Given the description of an element on the screen output the (x, y) to click on. 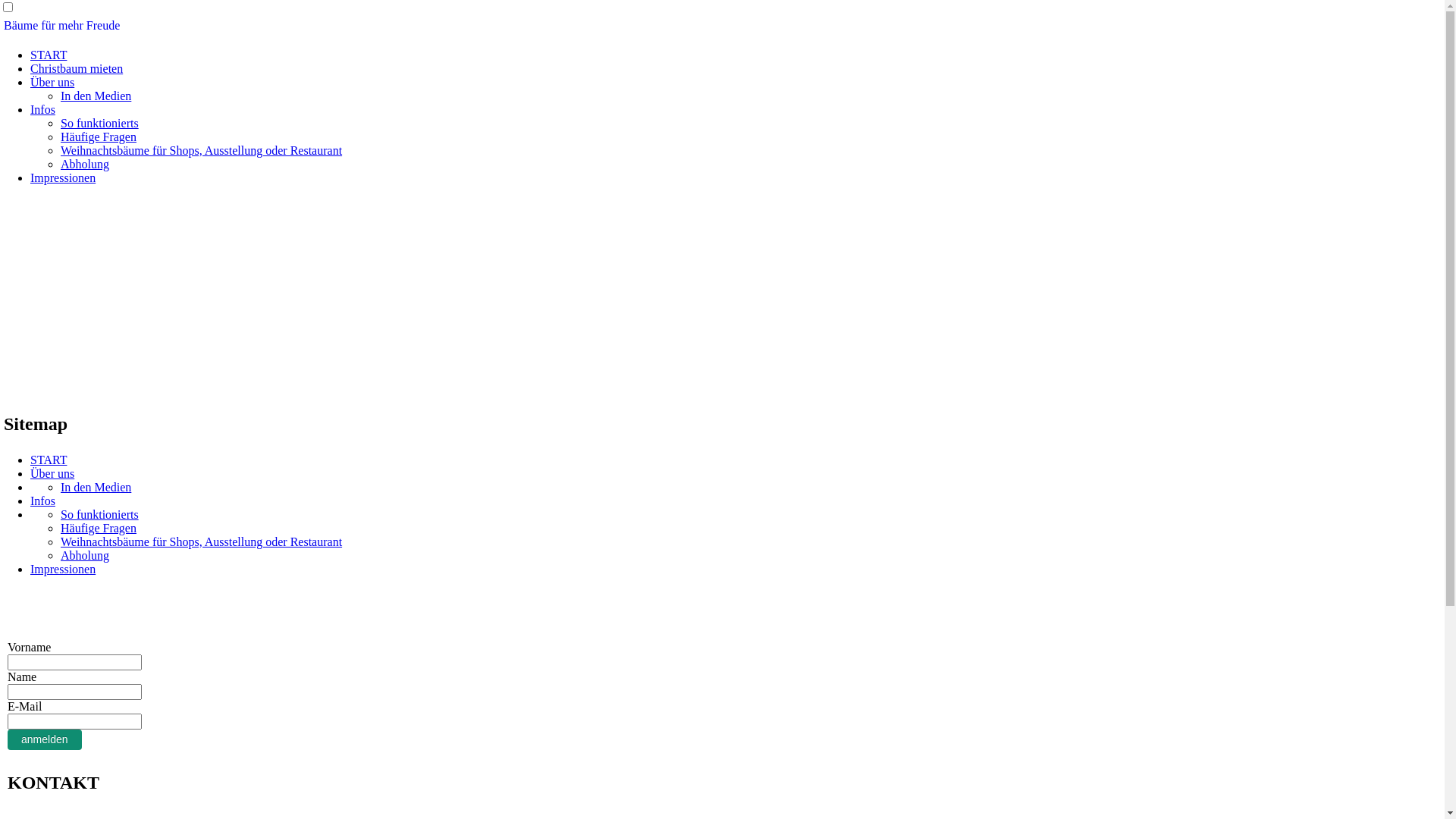
Abholung Element type: text (84, 163)
START Element type: text (48, 54)
In den Medien Element type: text (95, 95)
Impressionen Element type: text (62, 177)
So funktionierts Element type: text (99, 514)
Impressionen Element type: text (62, 568)
In den Medien Element type: text (95, 486)
Christbaum mieten Element type: text (76, 68)
So funktionierts Element type: text (99, 122)
Infos Element type: text (42, 109)
Abholung Element type: text (84, 555)
START Element type: text (48, 459)
anmelden Element type: text (44, 739)
Infos Element type: text (42, 500)
